Given the description of an element on the screen output the (x, y) to click on. 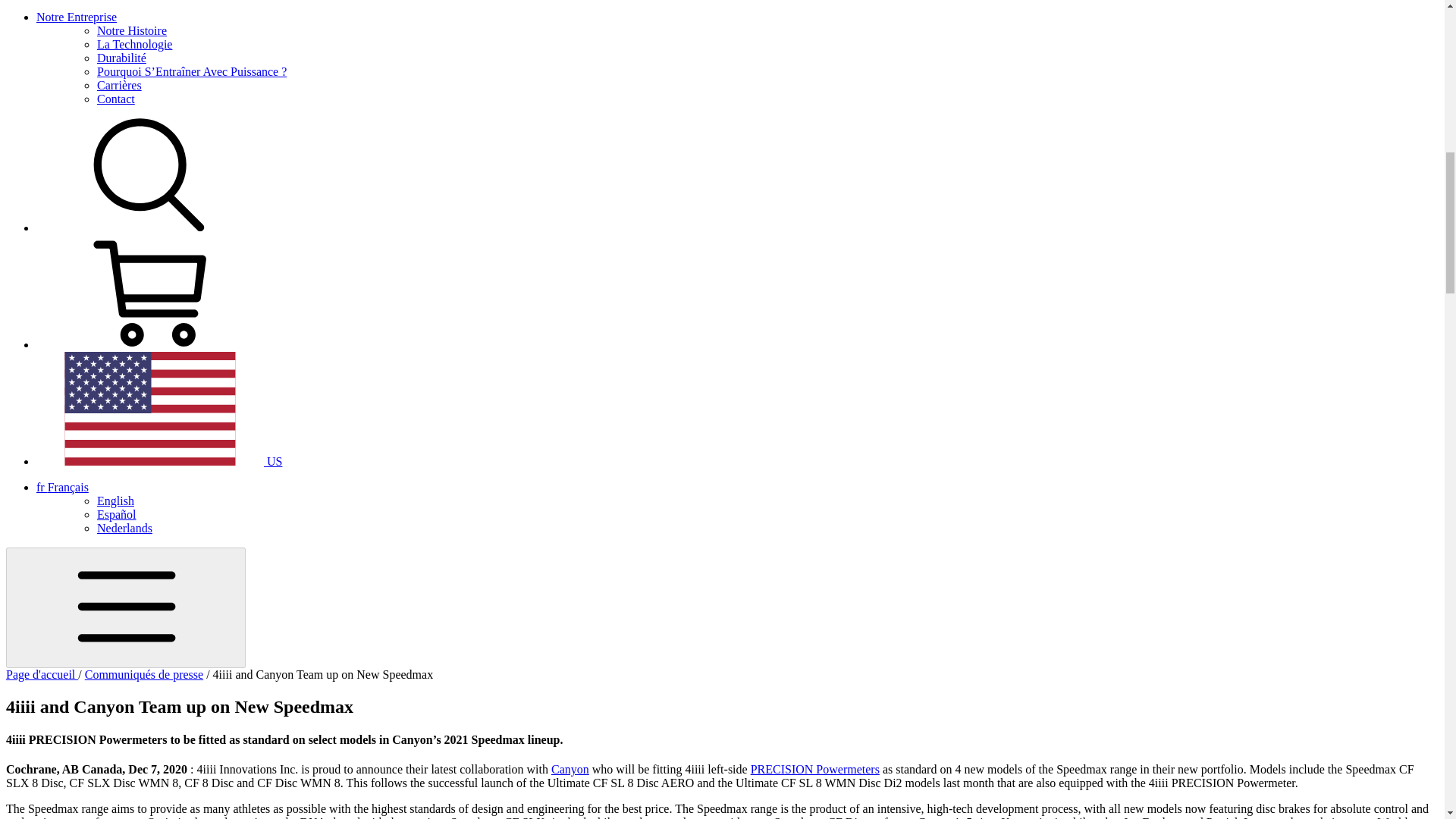
Page d'accueil (41, 674)
Recherche (149, 227)
Contact (116, 98)
Canyon (570, 768)
Nederlands (124, 527)
Nederlands (124, 527)
PRECISION Powermeters (815, 768)
US (159, 461)
Navigation (125, 607)
Notre Entreprise (76, 16)
Notre Histoire (132, 30)
La Technologie (134, 43)
English (115, 500)
English (115, 500)
Voir le panier (149, 344)
